Given the description of an element on the screen output the (x, y) to click on. 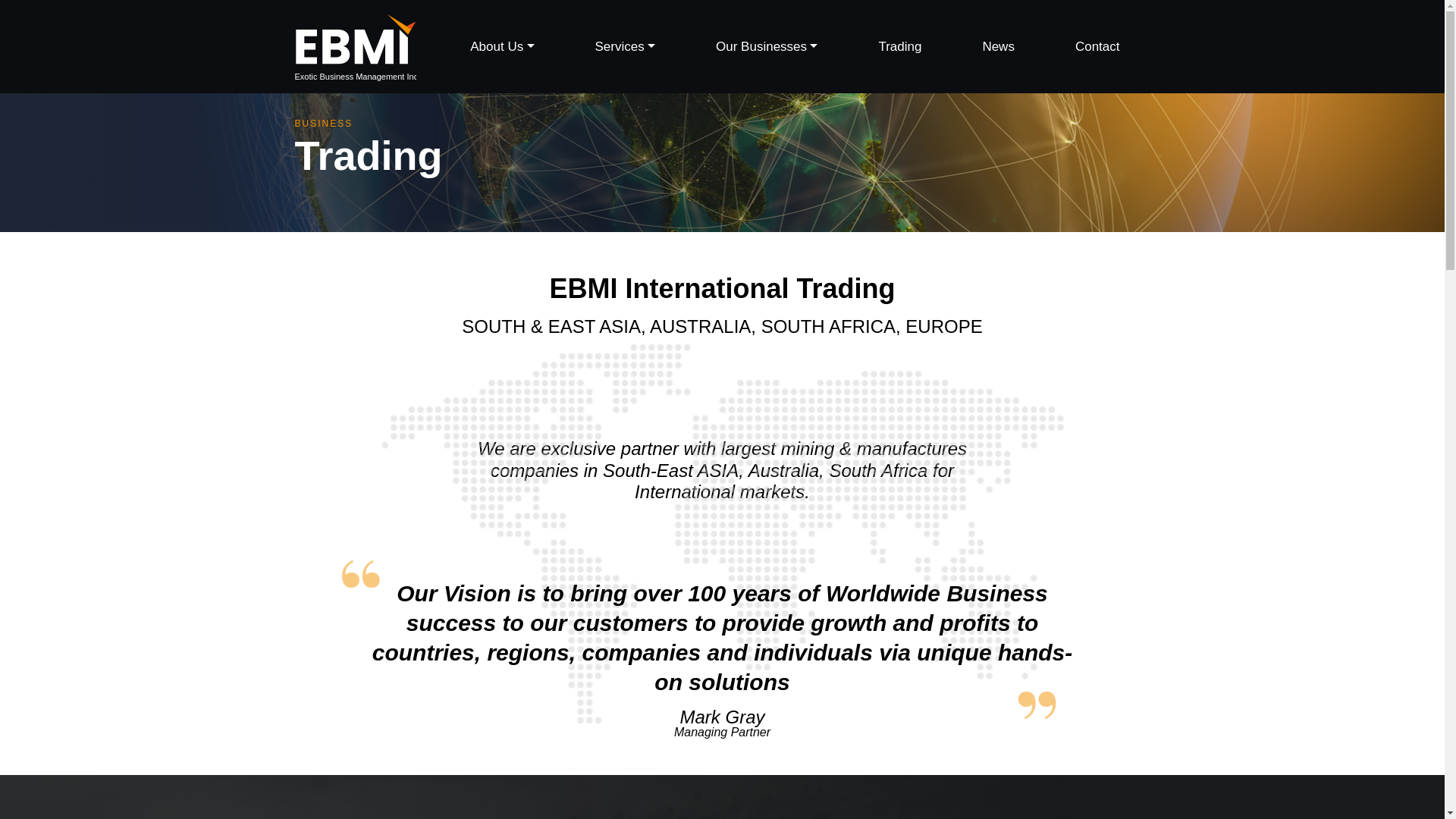
Services (624, 47)
Exotic Business Management India Private Limited (354, 45)
About Us (501, 47)
